Given the description of an element on the screen output the (x, y) to click on. 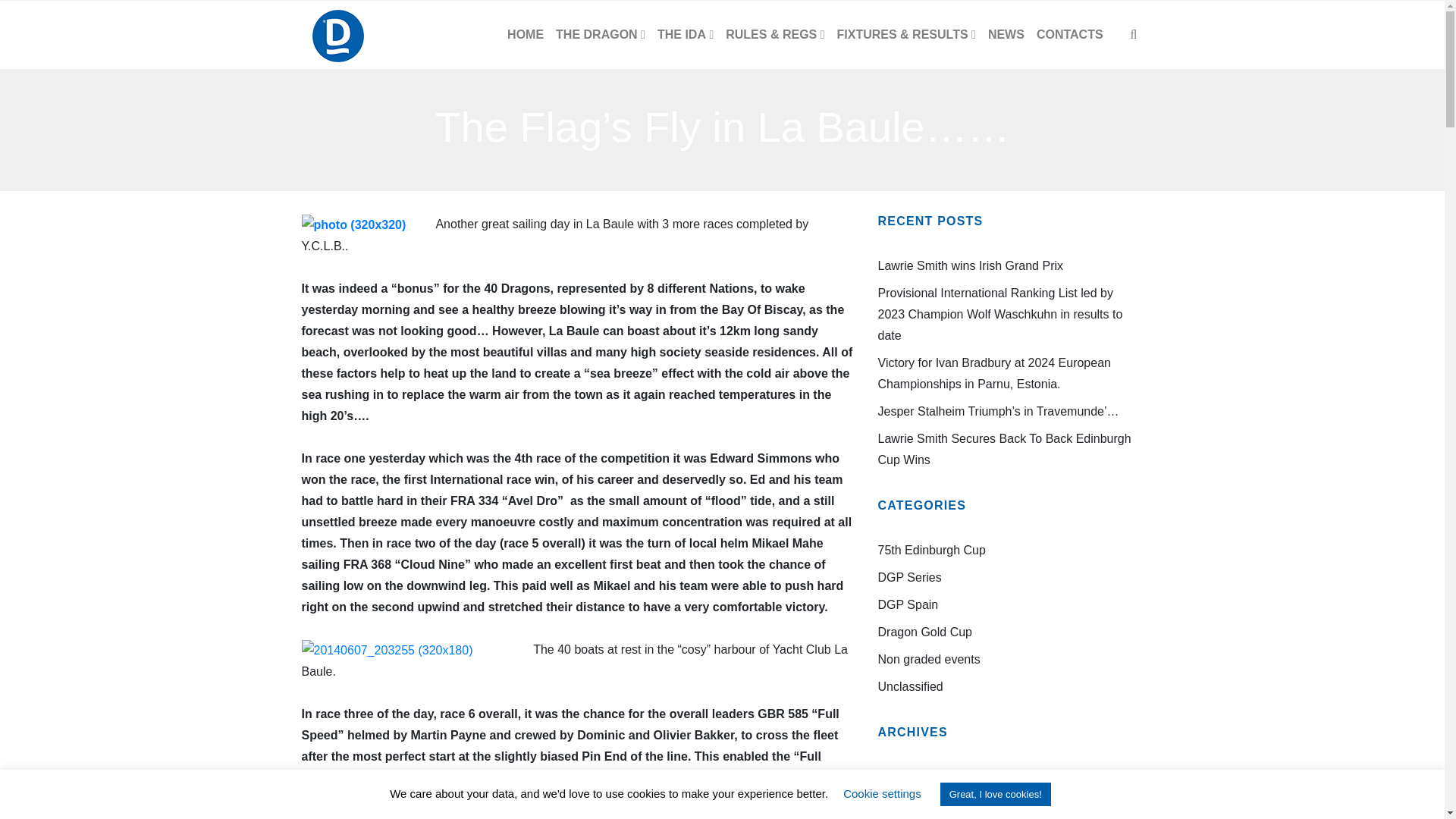
International Dragon Association (337, 34)
THE DRAGON (600, 34)
The IDA (684, 34)
The Dragon (600, 34)
CONTACTS (1069, 34)
THE IDA (684, 34)
